Given the description of an element on the screen output the (x, y) to click on. 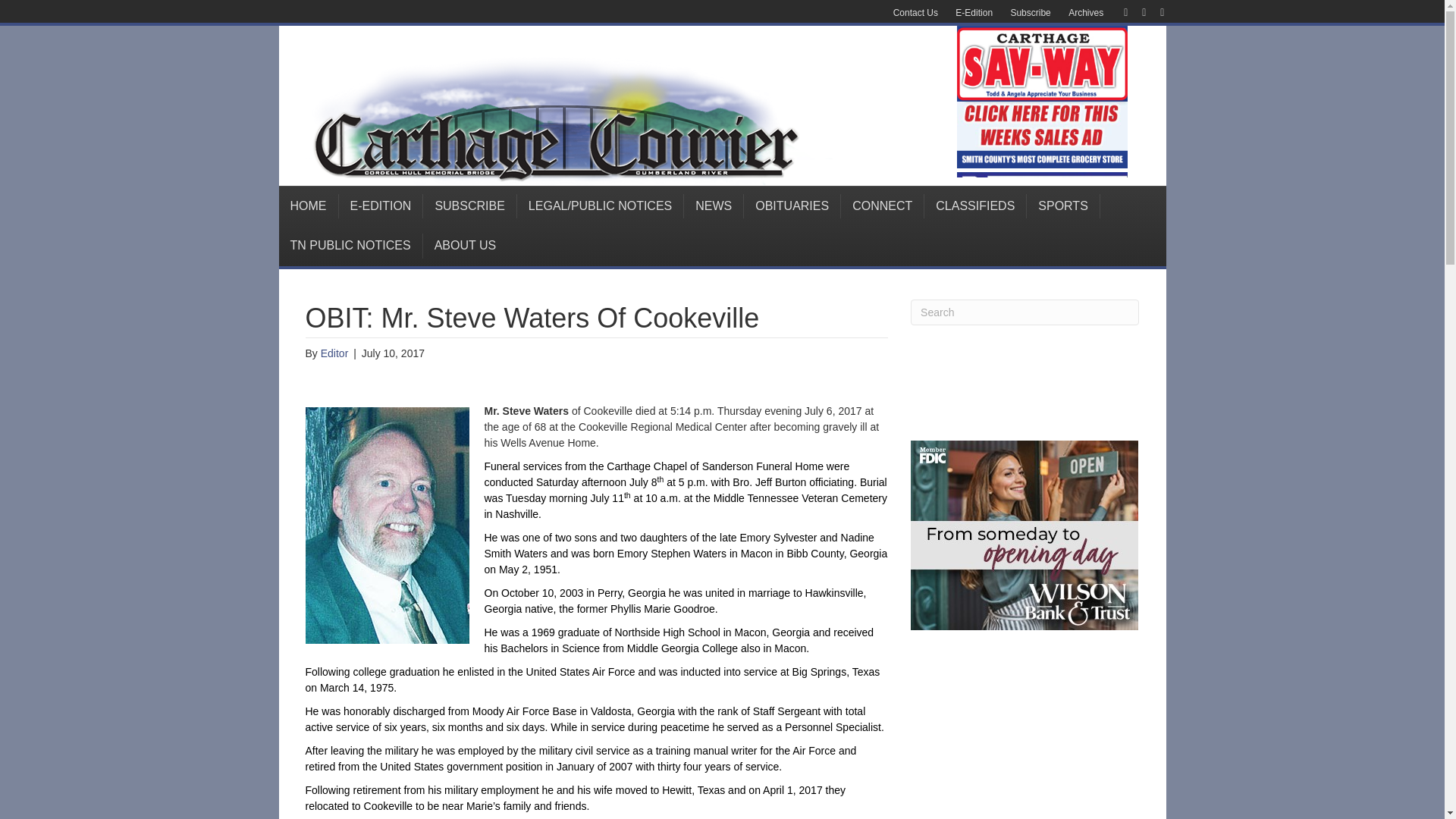
CONNECT (882, 206)
SUBSCRIBE (469, 206)
Archives (1085, 13)
Email (1154, 11)
Type and press Enter to search. (1024, 312)
Contact Us (914, 13)
Twitter (1135, 11)
HOME (309, 206)
Subscribe (1030, 13)
E-EDITION (380, 206)
